Given the description of an element on the screen output the (x, y) to click on. 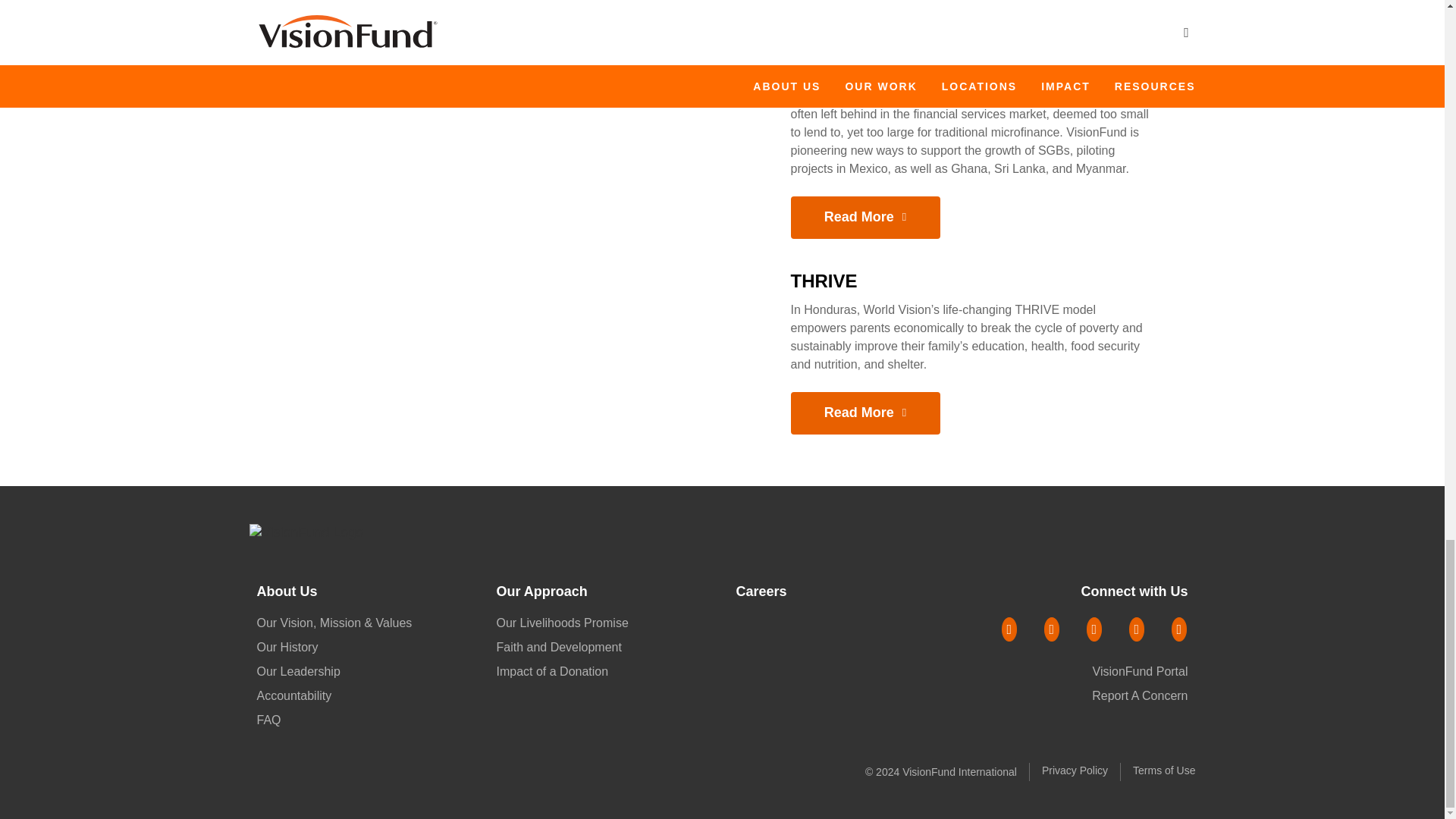
Explore the impact of a donation (551, 671)
